Given the description of an element on the screen output the (x, y) to click on. 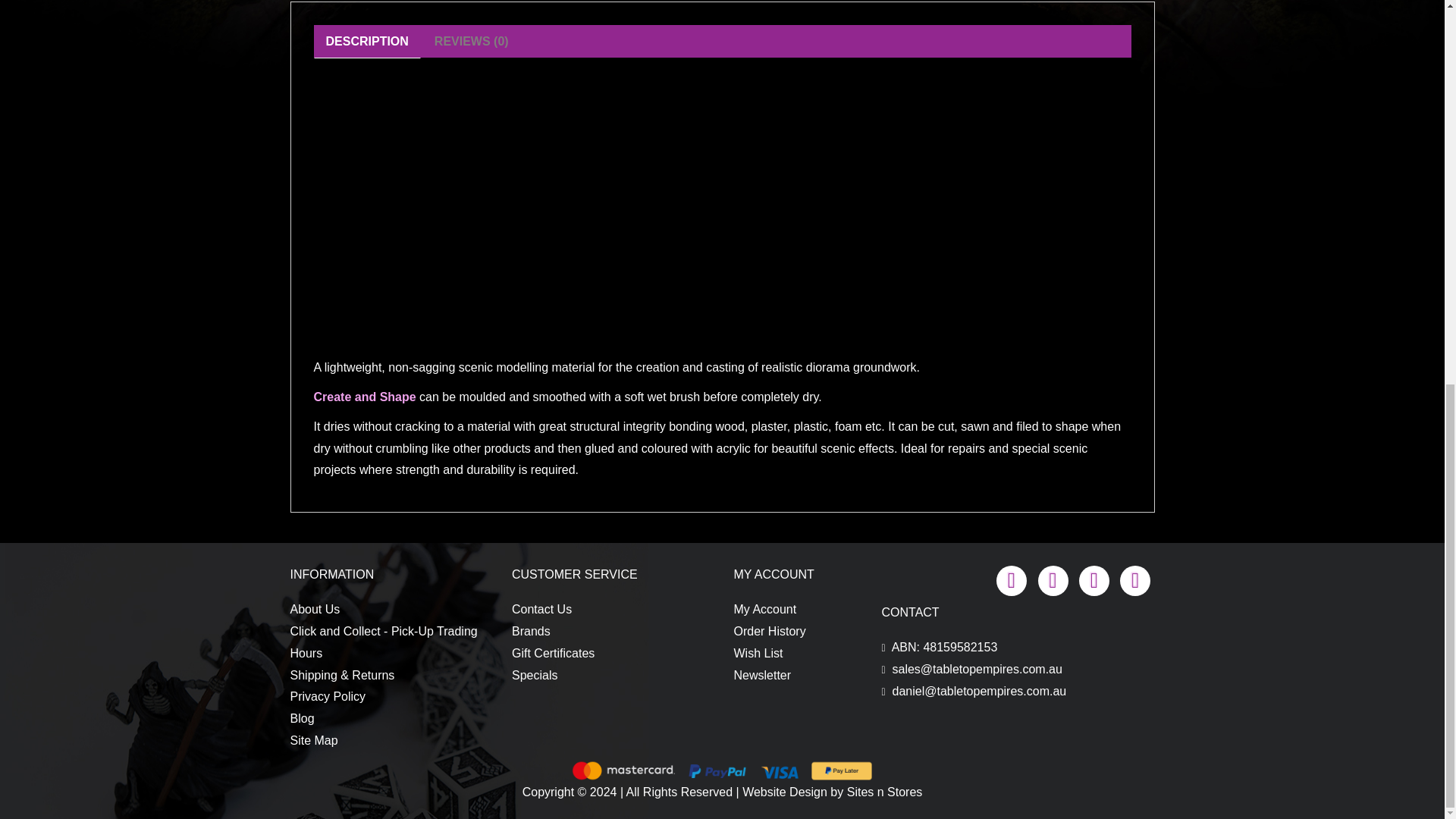
Facebook (1010, 579)
